Given the description of an element on the screen output the (x, y) to click on. 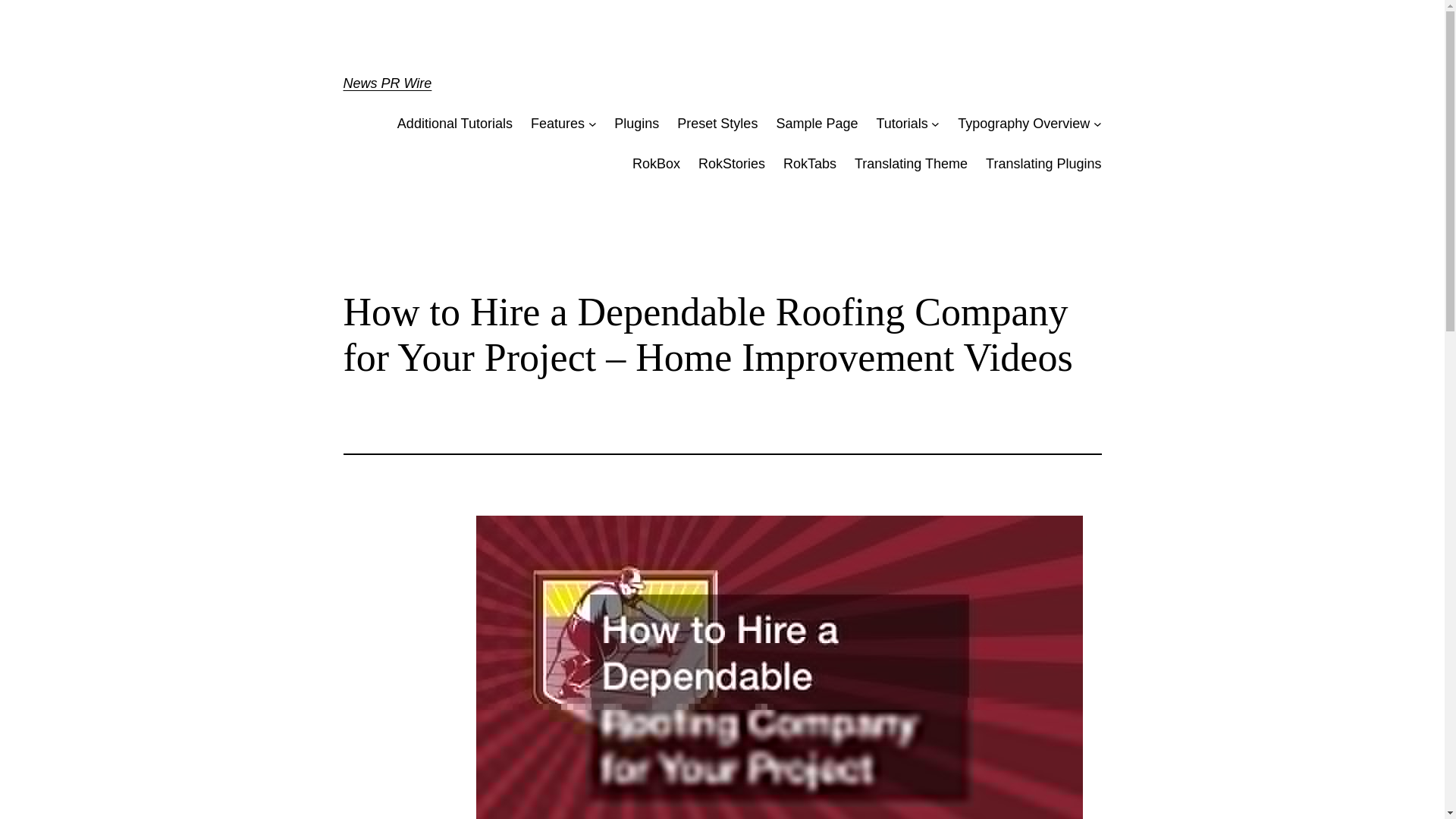
RokTabs (809, 164)
Preset Styles (717, 124)
Translating Theme (911, 164)
RokStories (731, 164)
RokBox (655, 164)
Features (558, 124)
Tutorials (901, 124)
Translating Plugins (1042, 164)
Plugins (636, 124)
Sample Page (816, 124)
